Given the description of an element on the screen output the (x, y) to click on. 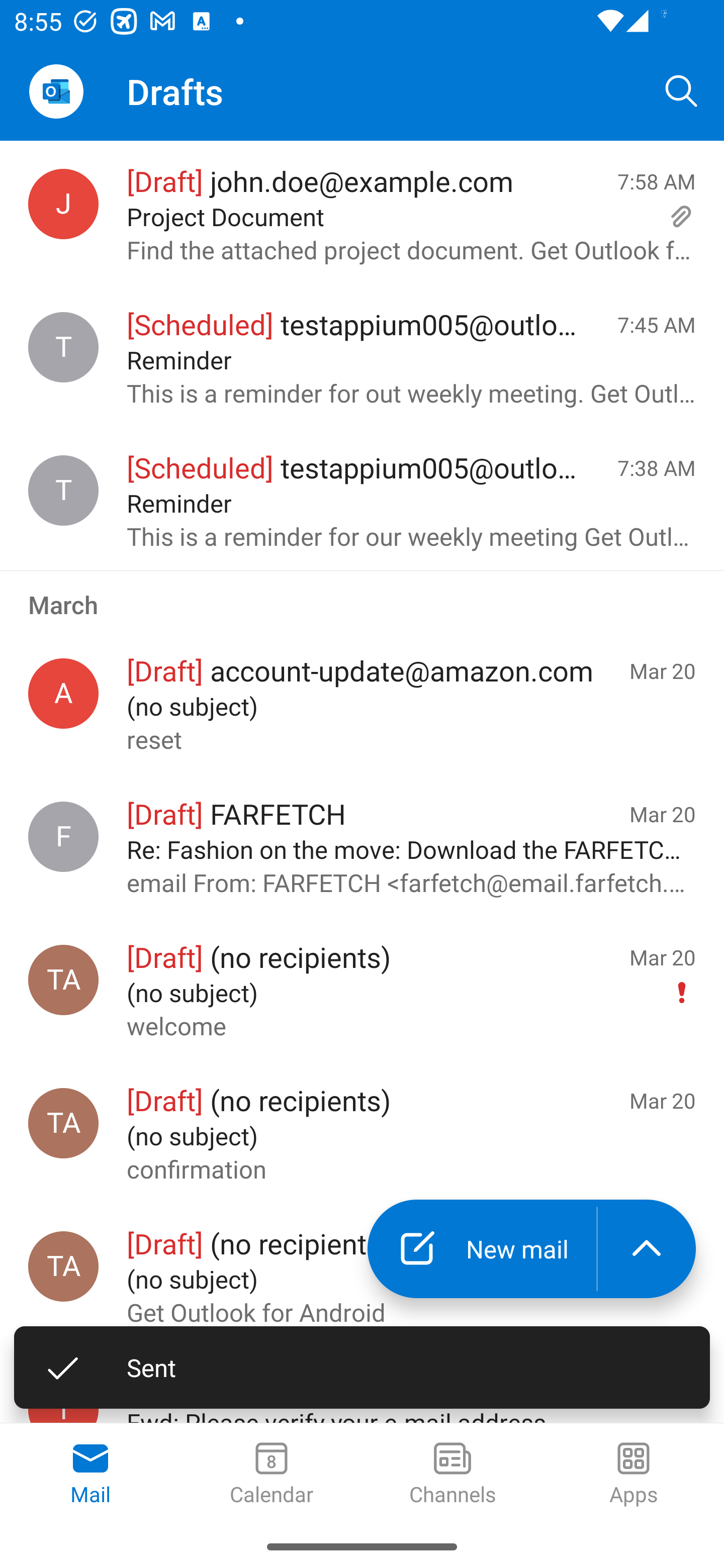
Search, ,  (681, 90)
Open Navigation Drawer (55, 91)
john.doe@example.com, testappium002@outlook.com (63, 204)
account-update@amazon.com (63, 693)
FARFETCH, testappium002@outlook.com (63, 836)
Test Appium, testappium002@outlook.com (63, 979)
Test Appium, testappium002@outlook.com (63, 1123)
New mail (481, 1248)
launch the extended action menu (646, 1248)
Test Appium, testappium002@outlook.com (63, 1265)
